Given the description of an element on the screen output the (x, y) to click on. 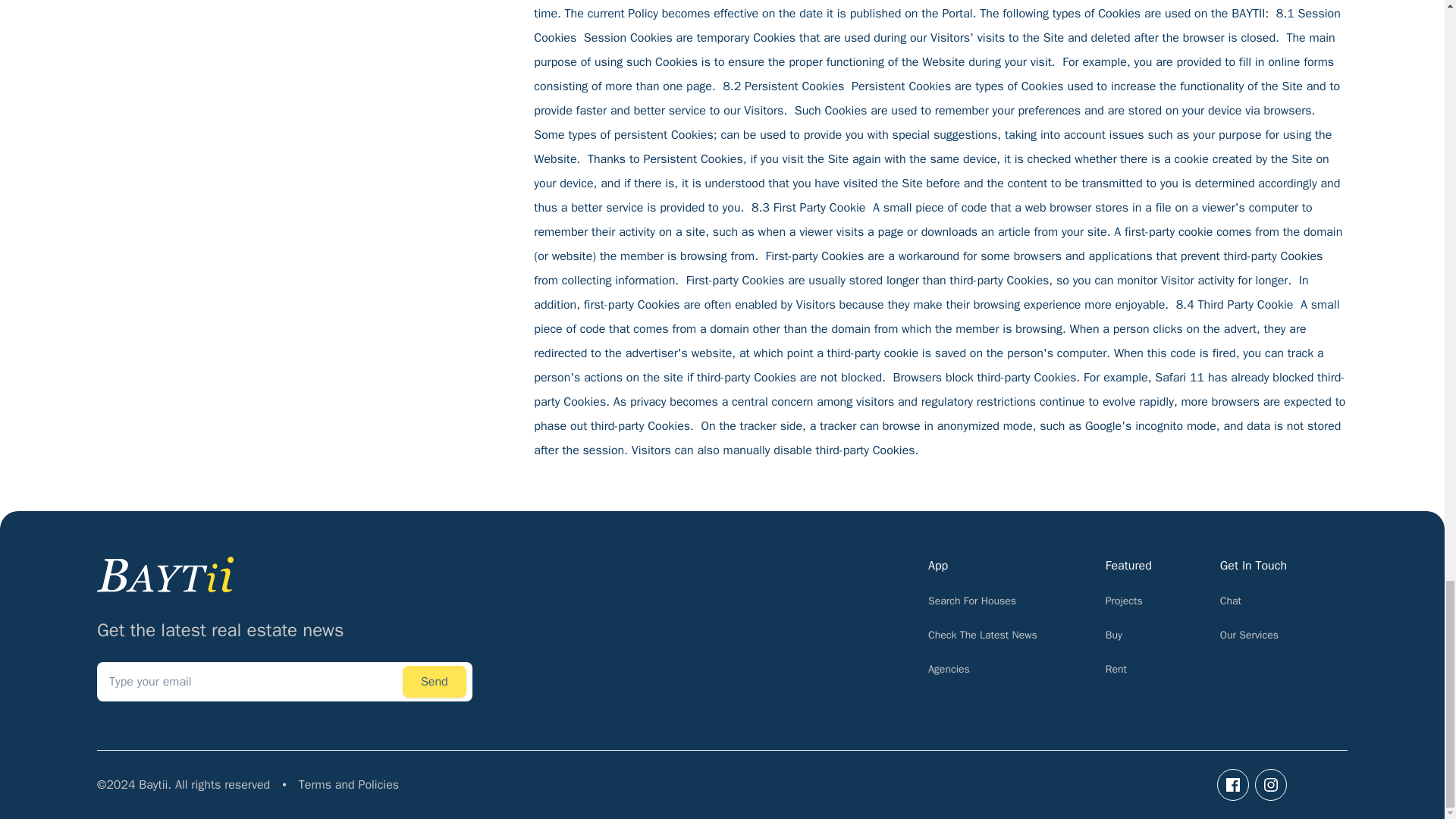
Terms and Conditions (348, 784)
Send (434, 681)
Agencies (948, 668)
Baytii On Facebook (1233, 784)
Baytii On Instagram (1271, 784)
Check The Latest News (982, 634)
Our Services (1249, 634)
Search For Houses (972, 600)
Terms and Policies (348, 784)
